Given the description of an element on the screen output the (x, y) to click on. 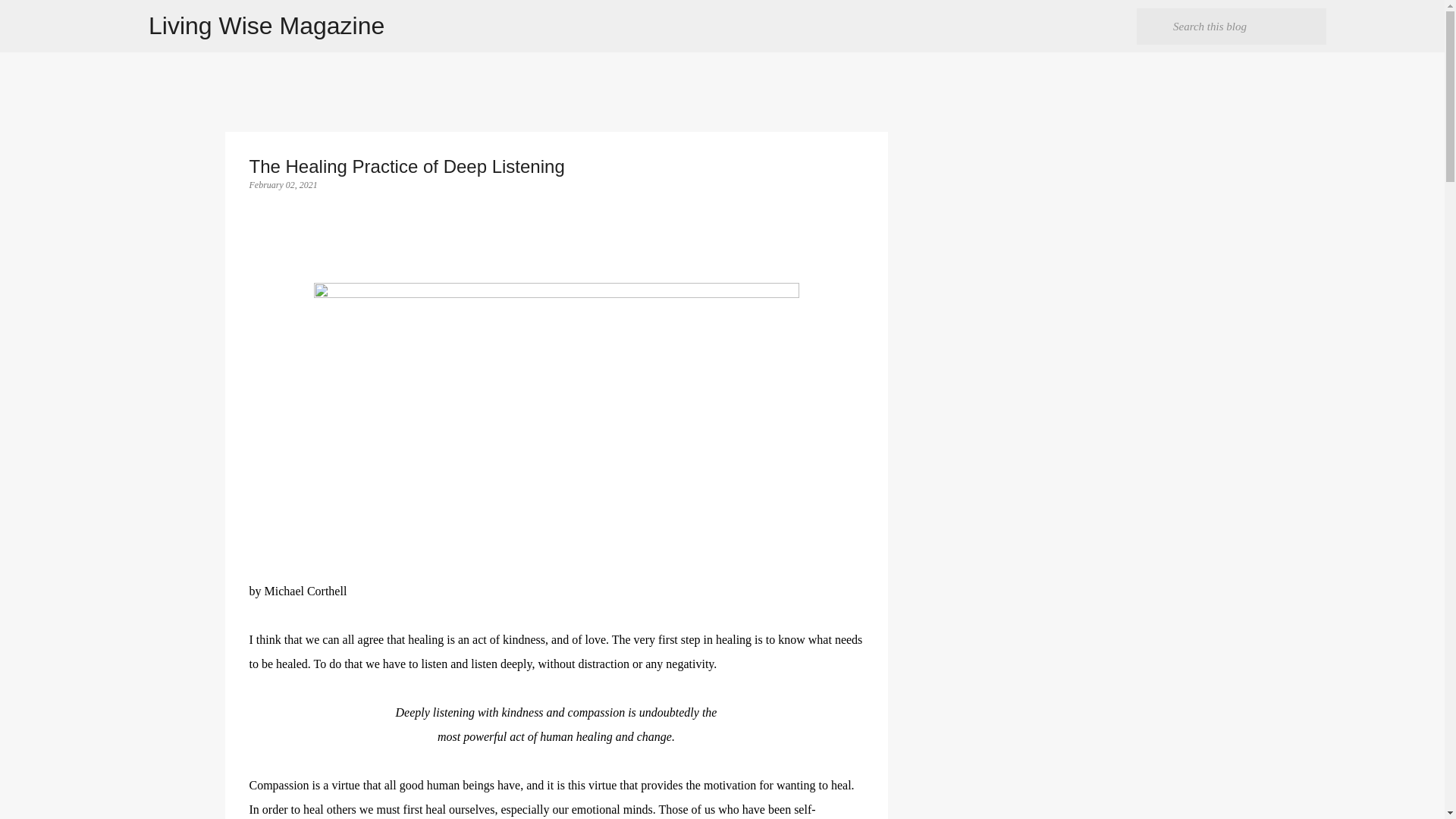
Living Wise Magazine (266, 25)
permanent link (282, 184)
February 02, 2021 (282, 184)
